Given the description of an element on the screen output the (x, y) to click on. 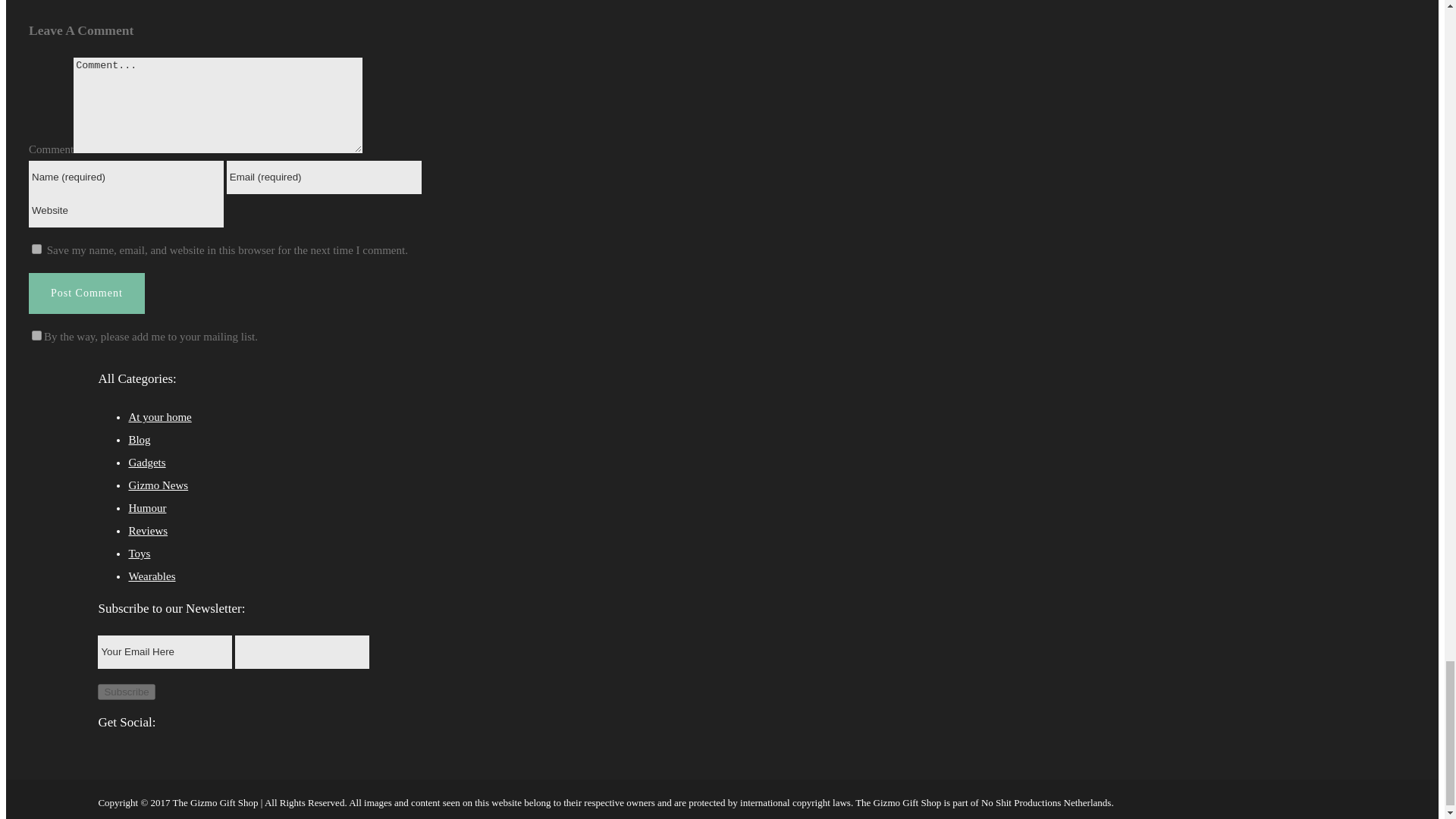
Subscribe (125, 691)
yes (37, 248)
Post Comment (86, 292)
1 (37, 335)
Your Email Here (164, 652)
